Given the description of an element on the screen output the (x, y) to click on. 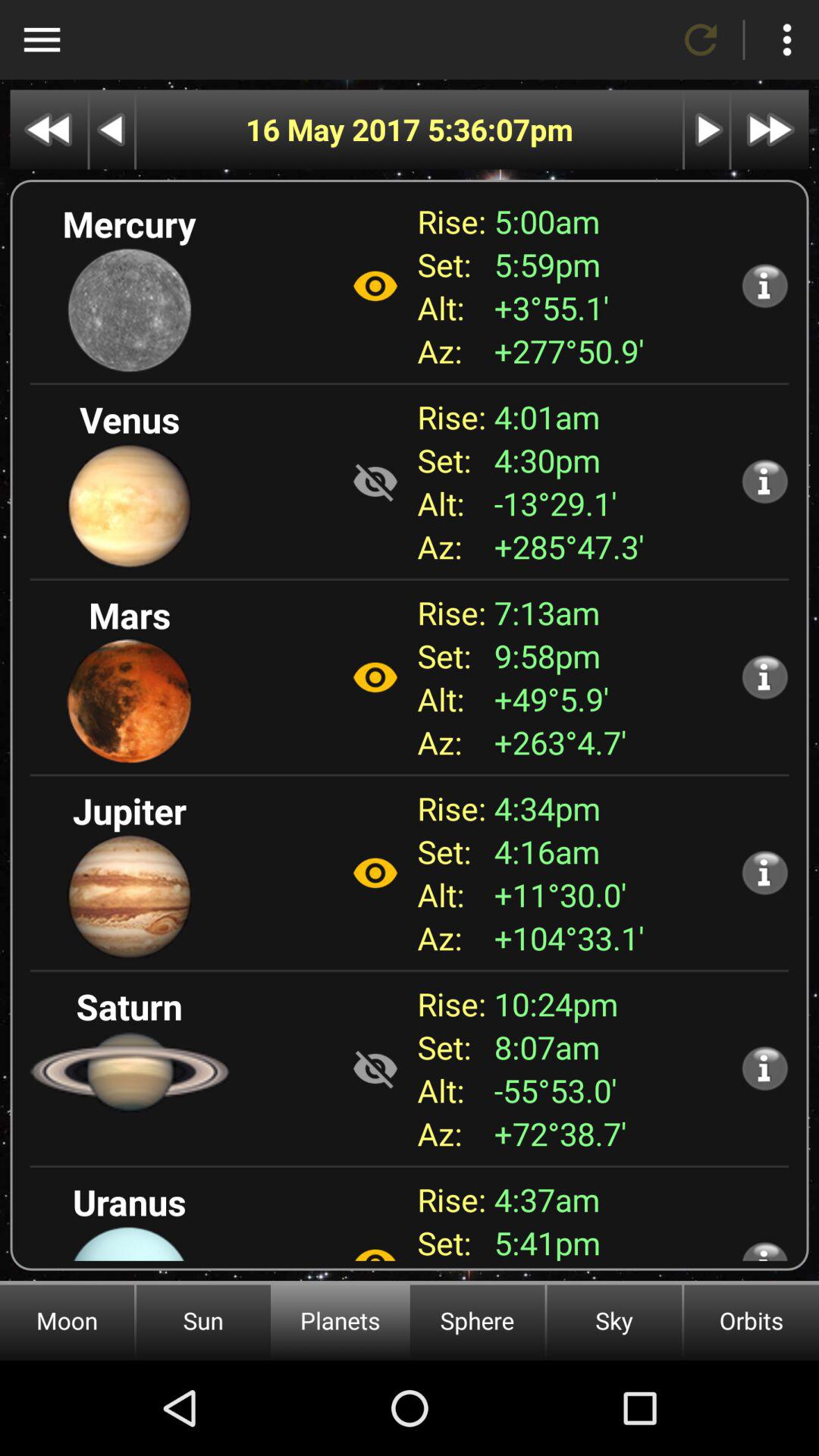
planets-venus information is here (764, 481)
